Given the description of an element on the screen output the (x, y) to click on. 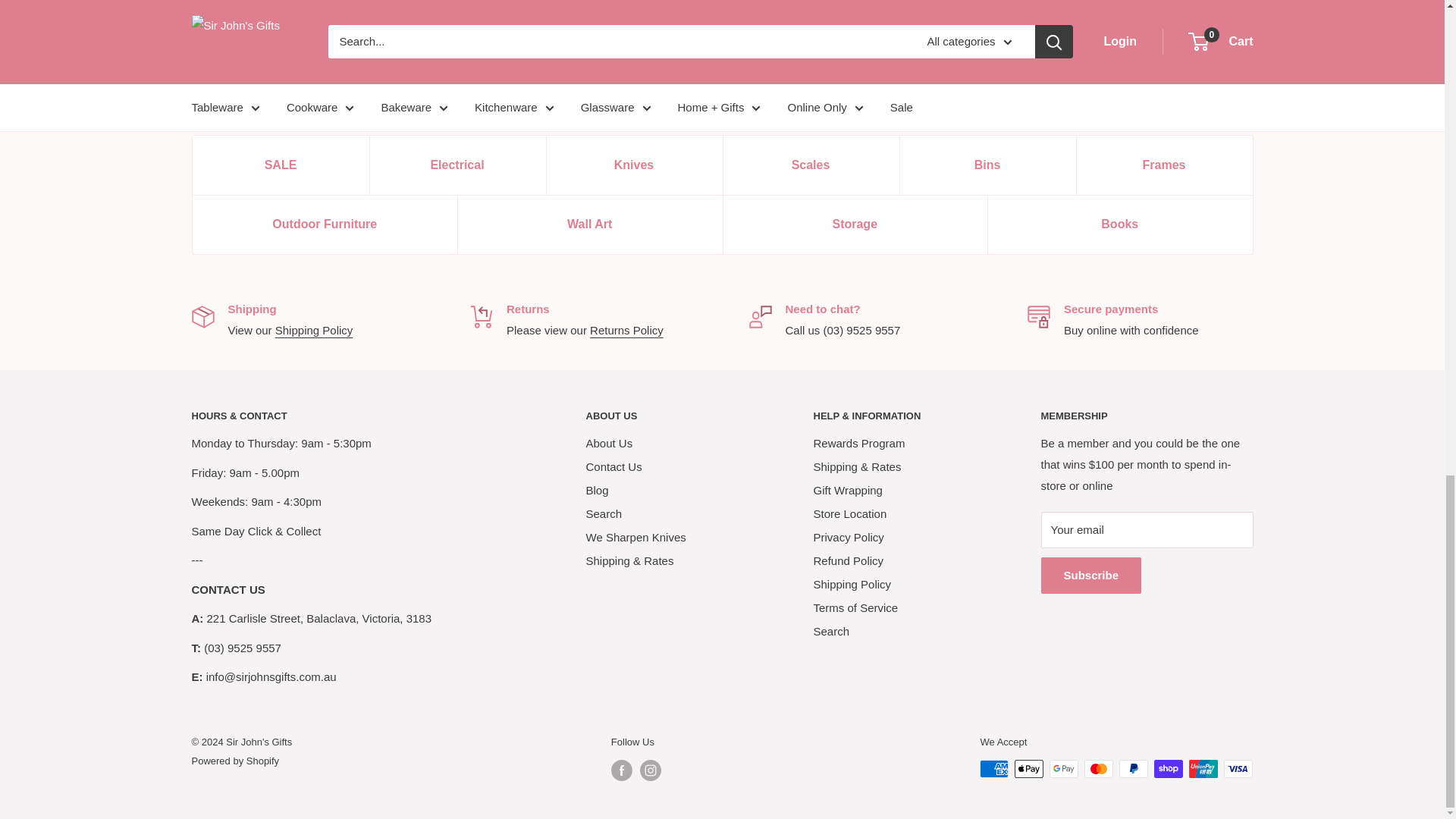
Shipping Policy (314, 329)
Refund Policy (626, 329)
